Given the description of an element on the screen output the (x, y) to click on. 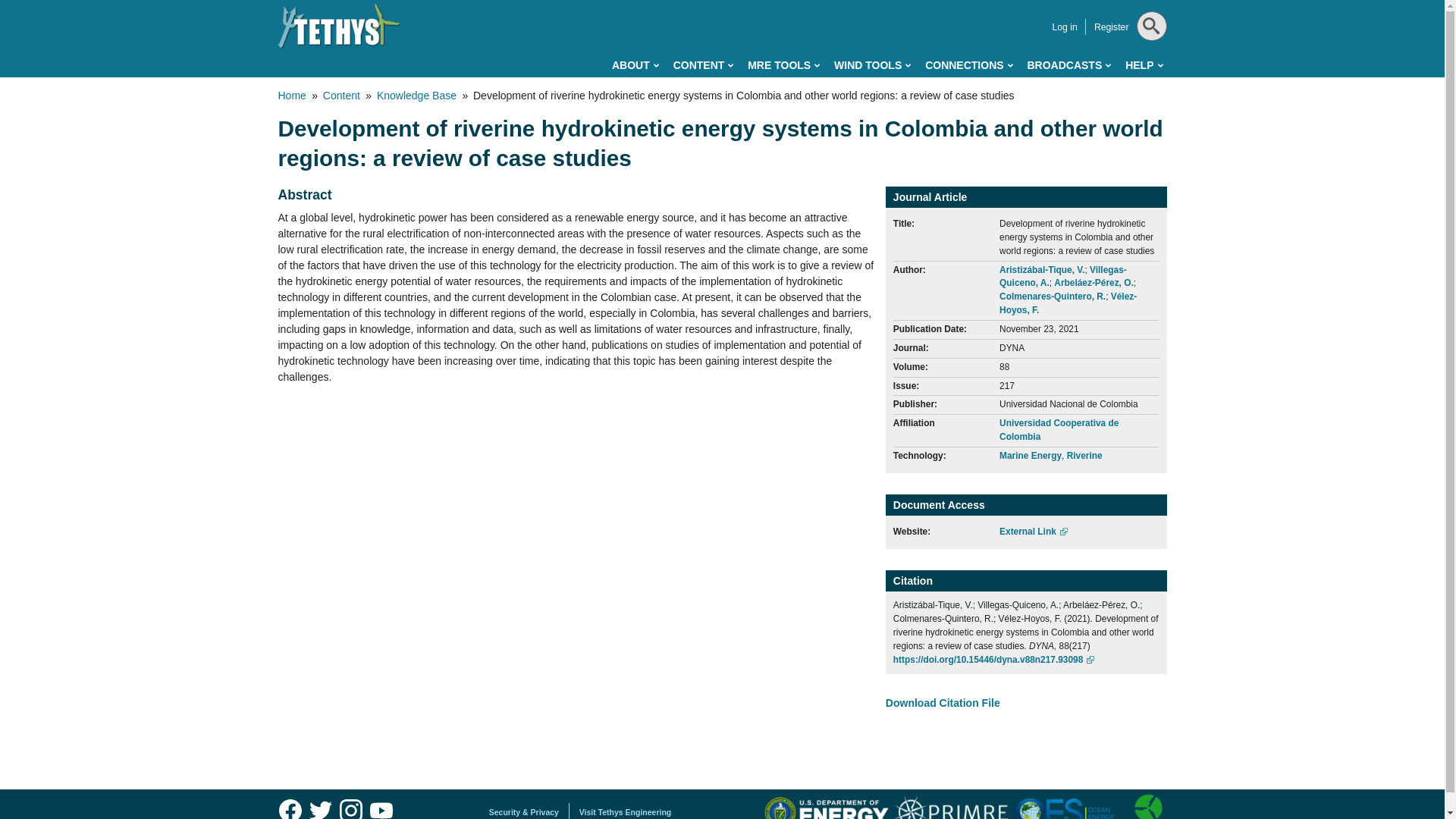
Facebook logo (290, 807)
BROADCASTS (1068, 65)
Twitter logo (319, 807)
MRE TOOLS (783, 65)
Home (339, 26)
YouTube logo (381, 807)
Log in (1064, 27)
HELP (1143, 65)
Register (1111, 27)
Search (1148, 64)
CONTENT (702, 65)
WIND TOOLS (872, 65)
CONNECTIONS (967, 65)
ABOUT (635, 65)
